Given the description of an element on the screen output the (x, y) to click on. 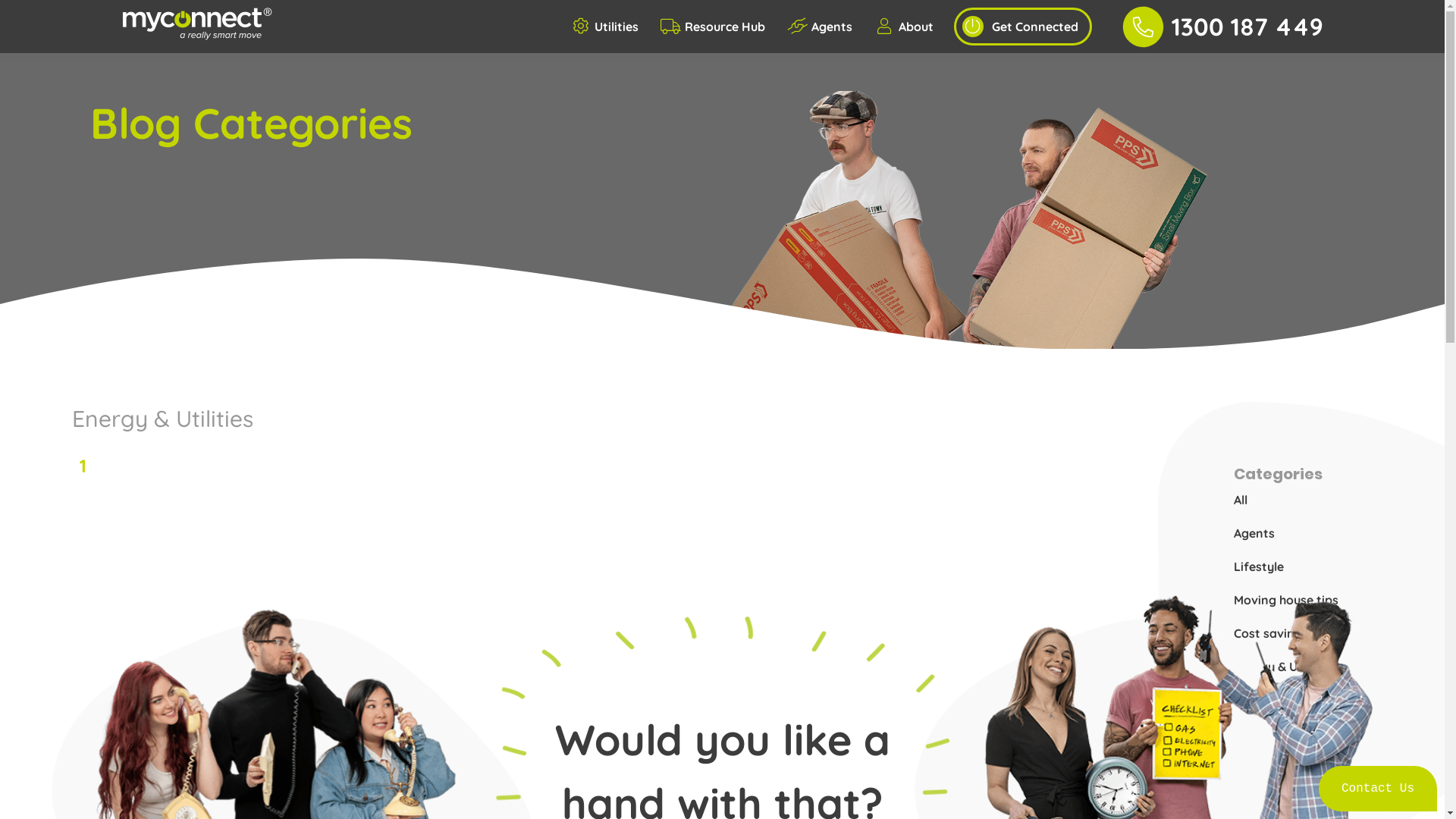
How to's Element type: text (1258, 699)
Agents Element type: text (1253, 532)
1300 187 449 Element type: text (1218, 26)
Summer Element type: text (1258, 766)
Winter Element type: text (1253, 799)
Contact Us Element type: text (1377, 788)
Resource Hub Element type: text (714, 26)
Moving house tips Element type: text (1285, 599)
About Element type: text (905, 26)
Agents Element type: text (821, 26)
1 Element type: text (82, 464)
Lifestyle Element type: text (1258, 566)
Utilities Element type: text (605, 26)
All Element type: text (1240, 499)
Energy & Utilities Element type: text (1283, 666)
Renting Element type: text (1256, 732)
Get Connected Element type: text (1022, 26)
Cost saving tips Element type: text (1280, 632)
